Given the description of an element on the screen output the (x, y) to click on. 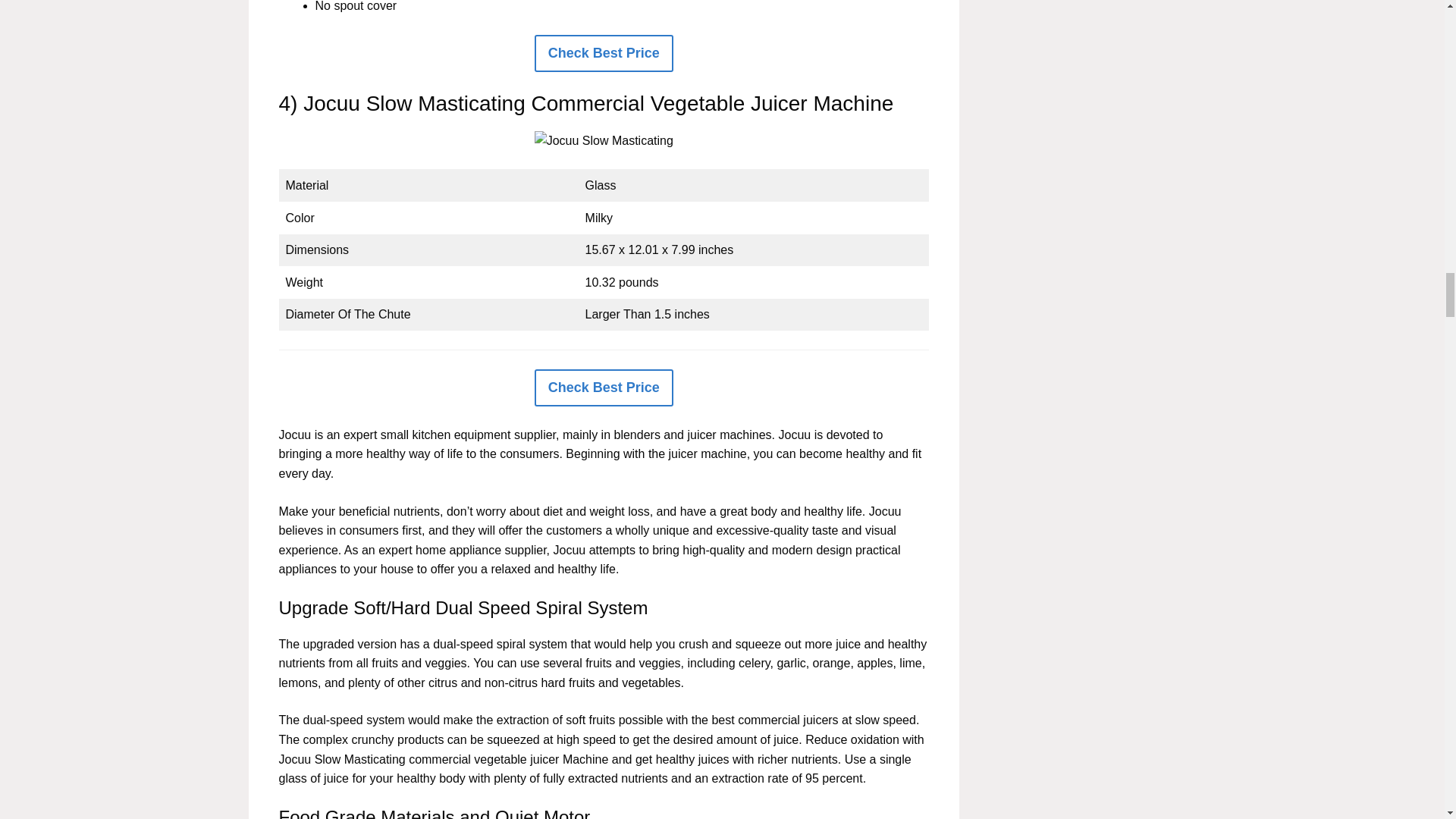
Check Best Price (603, 387)
Check Best Price (603, 53)
